Given the description of an element on the screen output the (x, y) to click on. 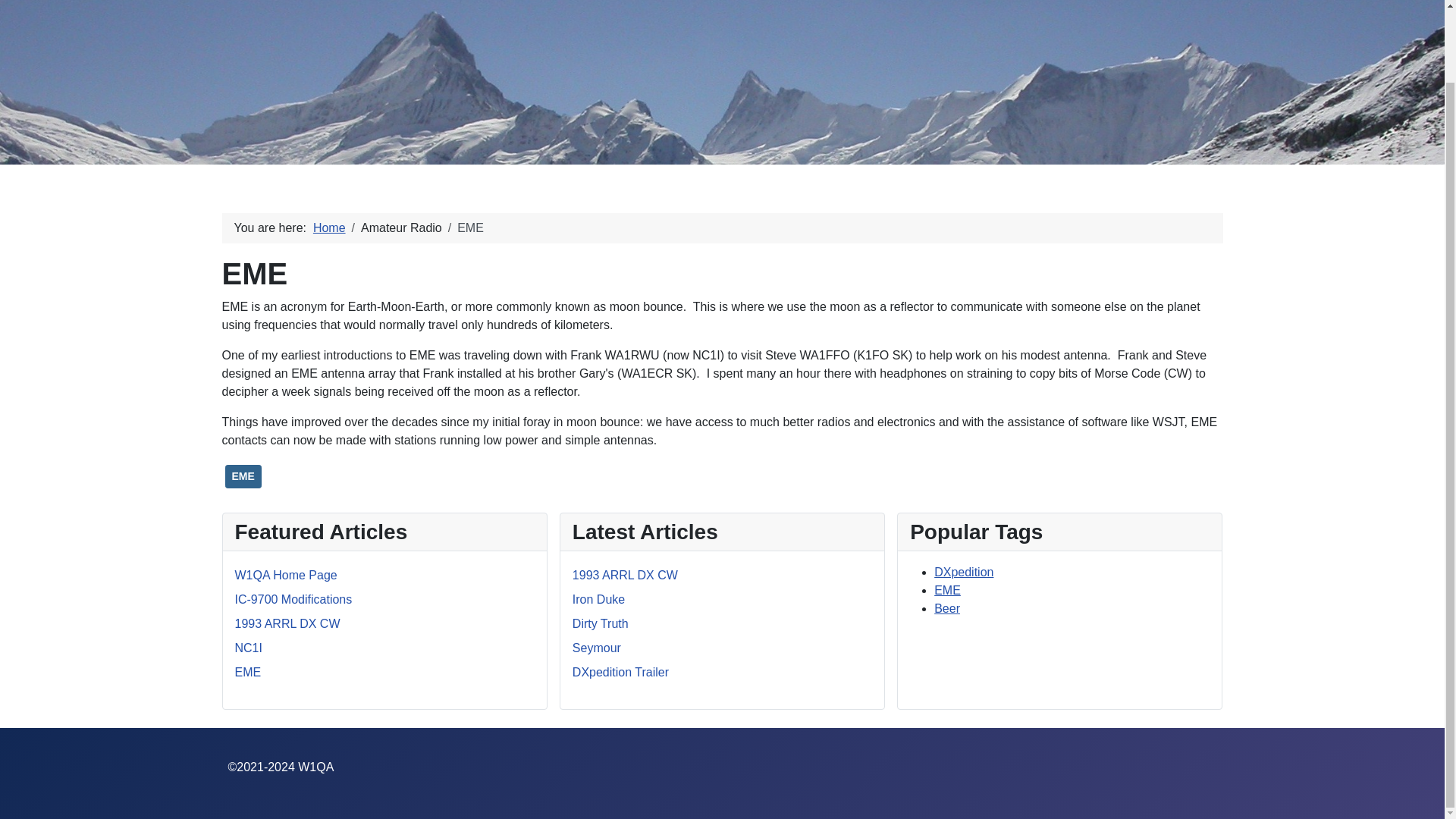
EME (248, 671)
1993 ARRL DX CW (287, 623)
Home (329, 227)
DXpedition (963, 571)
EME (242, 476)
1993 ARRL DX CW (625, 574)
Seymour (596, 647)
EME (947, 590)
DXpedition Trailer (620, 671)
Dirty Truth (600, 623)
